Given the description of an element on the screen output the (x, y) to click on. 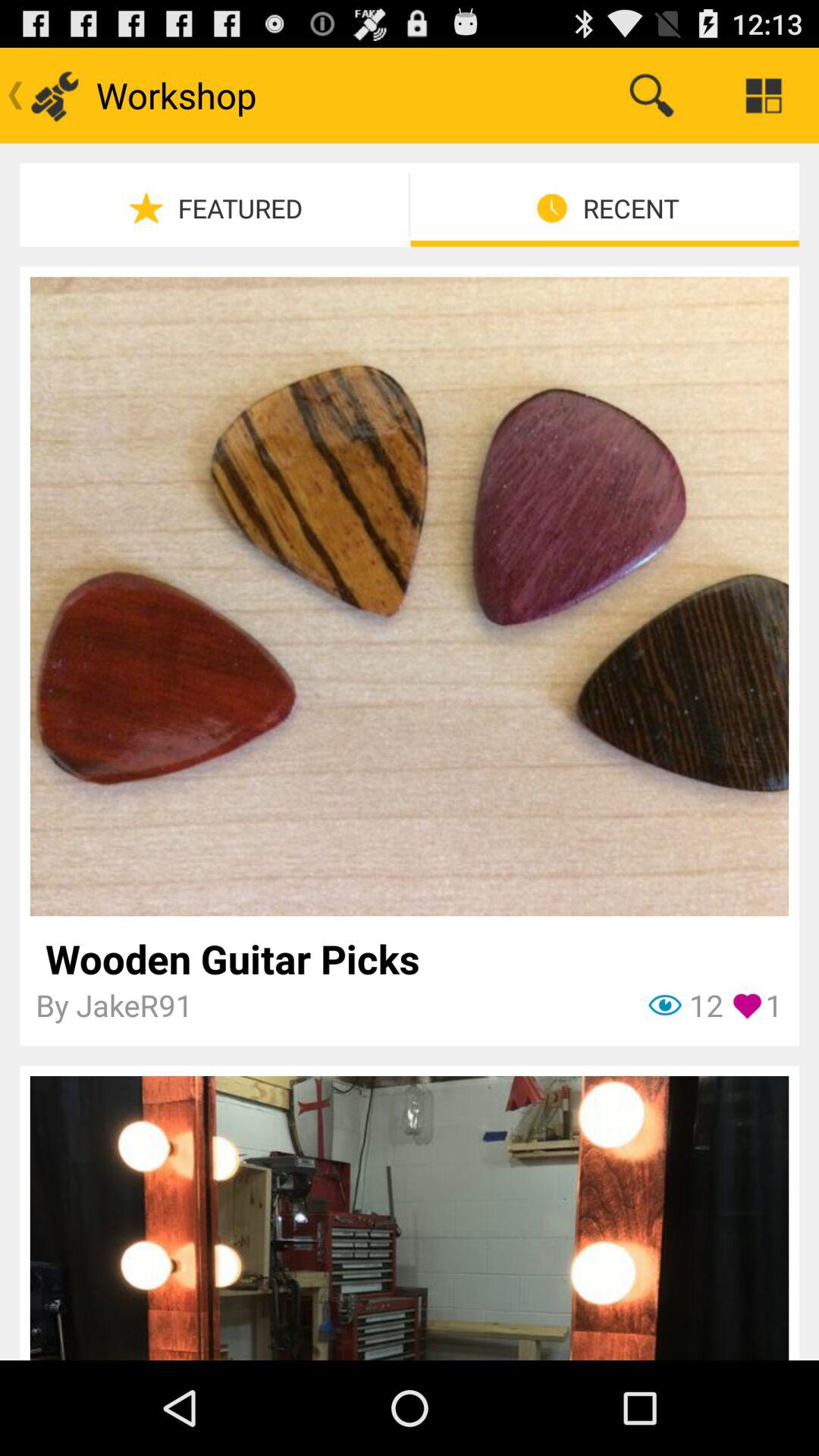
swipe until the  wooden guitar picks app (408, 958)
